Given the description of an element on the screen output the (x, y) to click on. 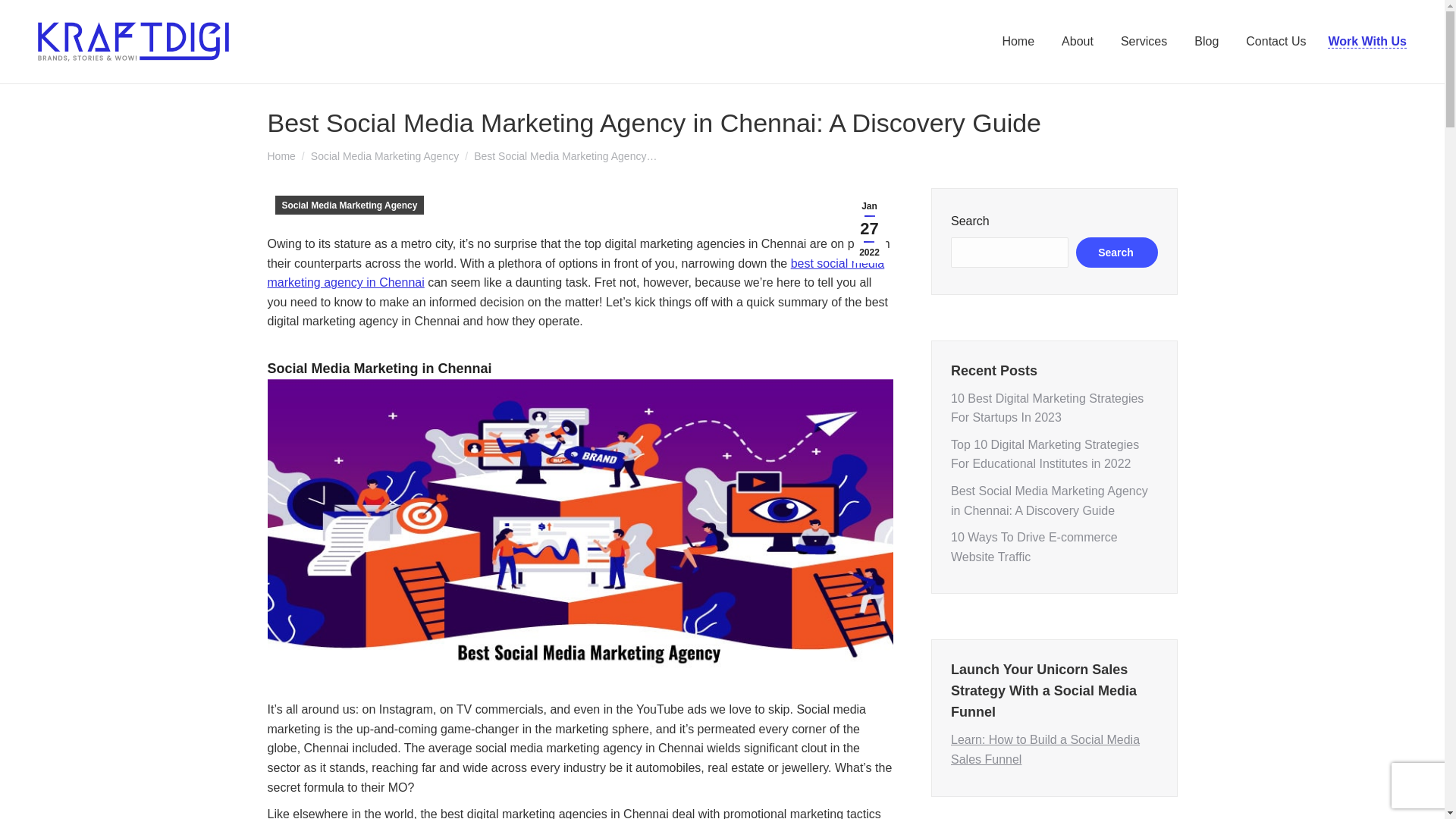
Work With Us (1366, 41)
Contact Us (1275, 41)
Social Media Marketing Agency (384, 155)
Work With Us (1366, 41)
Social Media Marketing Agency (349, 204)
best social media marketing agency in Chennai (574, 273)
Services (1144, 41)
Home (280, 155)
